Given the description of an element on the screen output the (x, y) to click on. 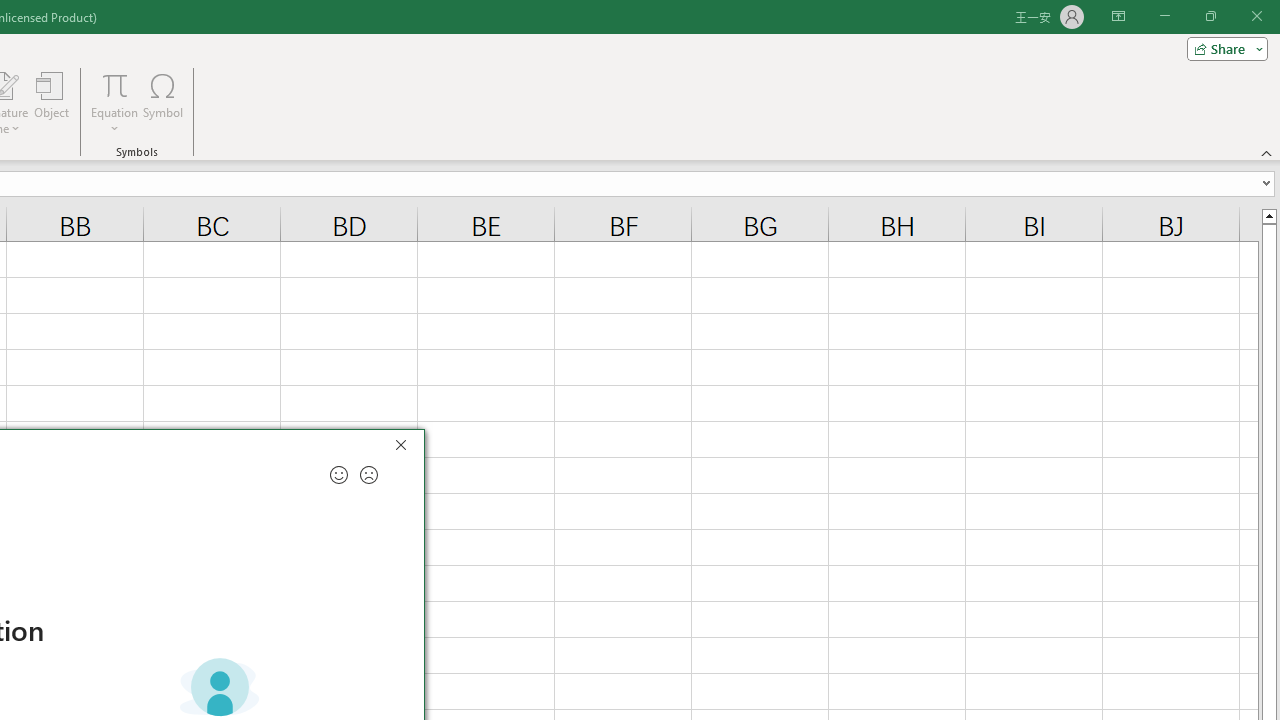
Equation (114, 84)
Restore Down (1210, 16)
Equation (114, 102)
Symbol... (162, 102)
Collapse the Ribbon (1267, 152)
Share (1223, 48)
Line up (1268, 215)
Object... (51, 102)
Send a frown for feedback (369, 475)
Ribbon Display Options (1118, 16)
Send a smile for feedback (338, 475)
Minimize (1164, 16)
